Given the description of an element on the screen output the (x, y) to click on. 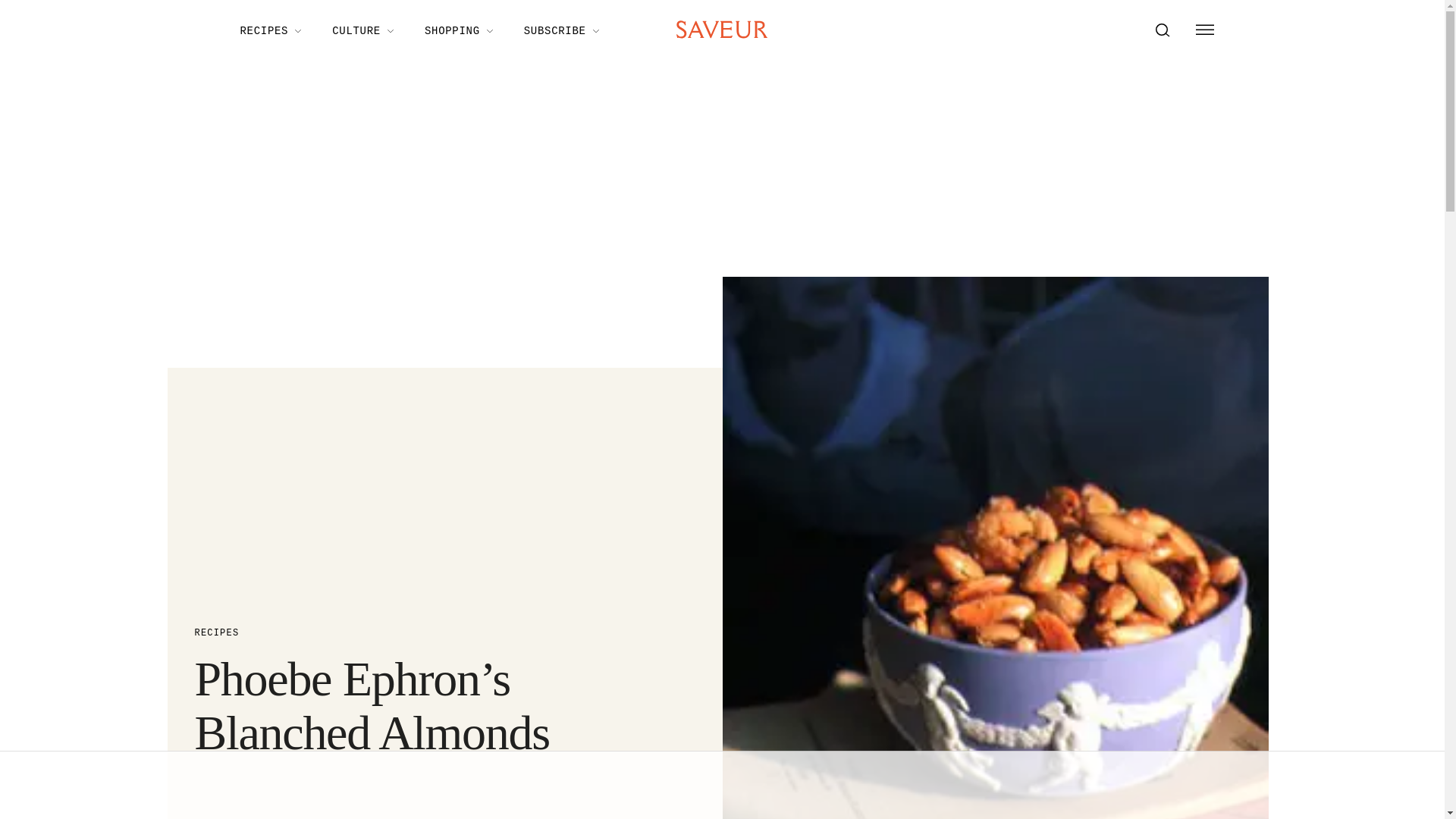
Shopping (458, 31)
SHOPPING (458, 31)
CULTURE (363, 31)
Subscribe (561, 31)
RECIPES (270, 31)
RECIPES (411, 633)
SUBSCRIBE (561, 31)
Culture (363, 31)
Recipes (270, 31)
